Given the description of an element on the screen output the (x, y) to click on. 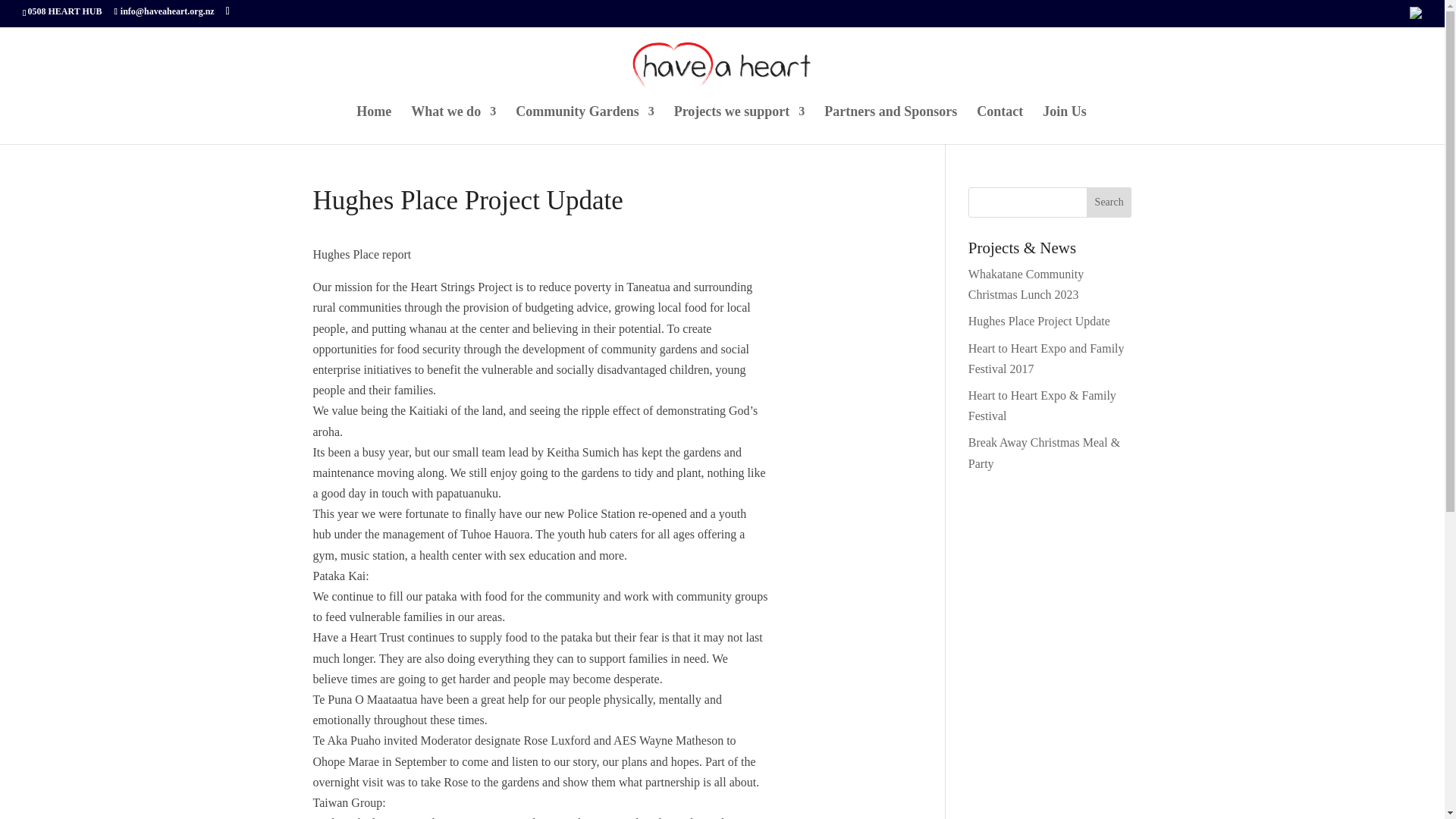
Community Gardens (584, 125)
0508 HEART HUB (64, 10)
Partners and Sponsors (890, 125)
Search (1109, 202)
Projects we support (739, 125)
What we do (453, 125)
Contact (999, 125)
Home (373, 125)
Join Us (1064, 125)
